Given the description of an element on the screen output the (x, y) to click on. 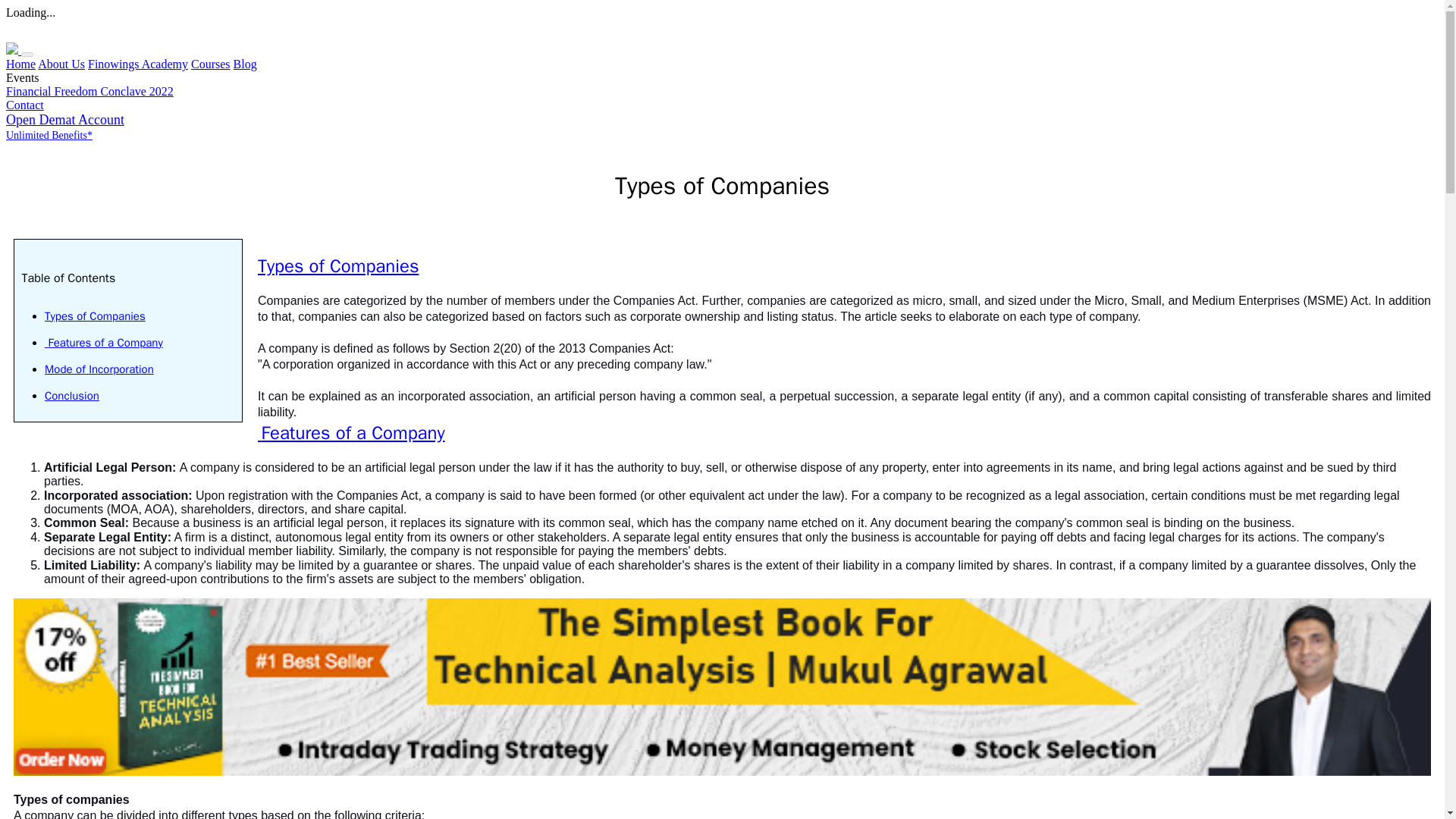
Mode of Incorporation (99, 368)
Blog (244, 63)
Types of Companies (95, 315)
 Features of a Company (351, 432)
Events (22, 77)
Conclusion (72, 395)
Home (19, 63)
Financial Freedom Conclave 2022 (89, 91)
Finowings Academy (137, 63)
Contact (24, 104)
Types of Companies (338, 265)
About Us (60, 63)
 Features of a Company (104, 342)
Courses (210, 63)
